Given the description of an element on the screen output the (x, y) to click on. 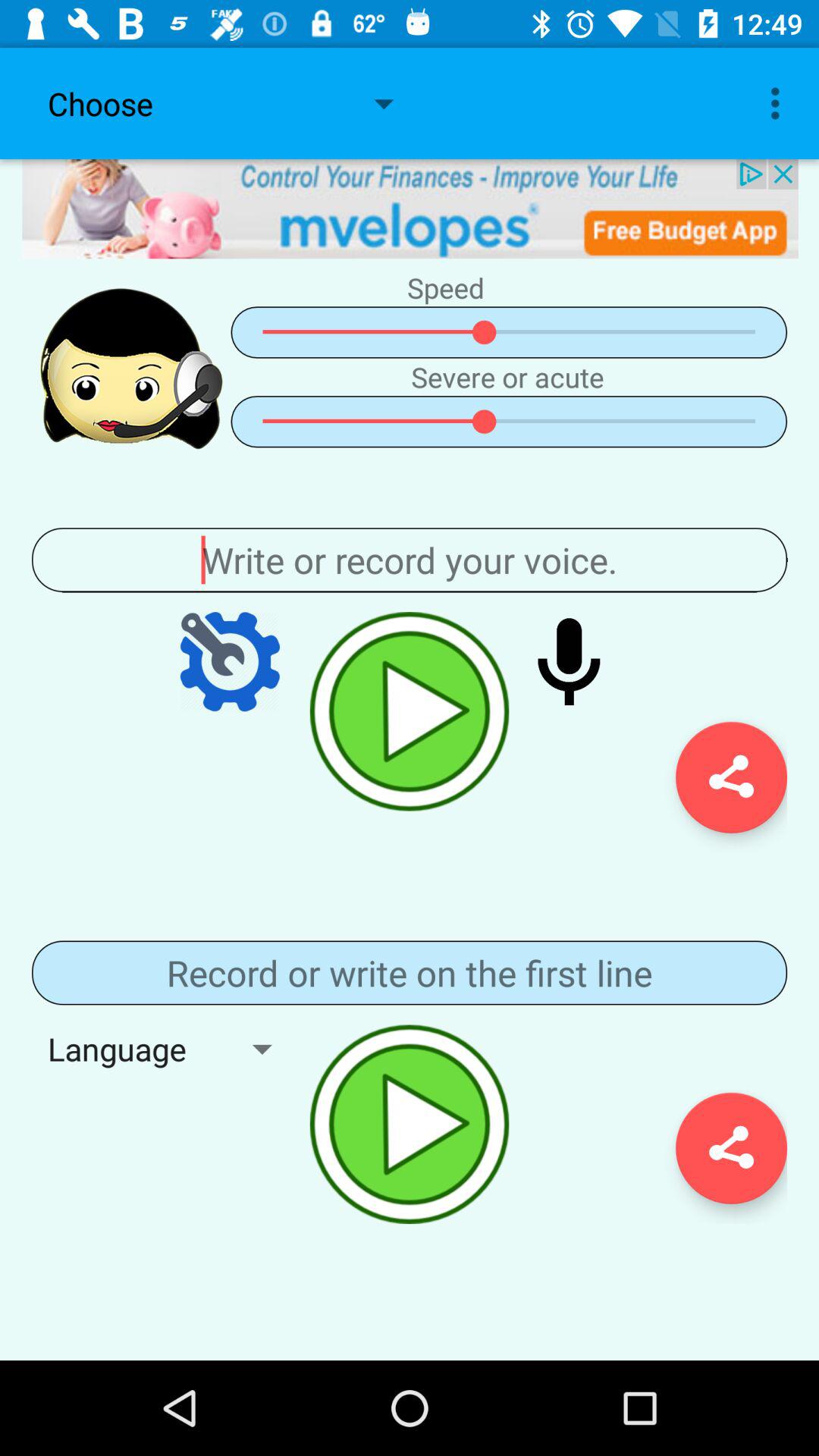
record or write on the line (409, 972)
